Given the description of an element on the screen output the (x, y) to click on. 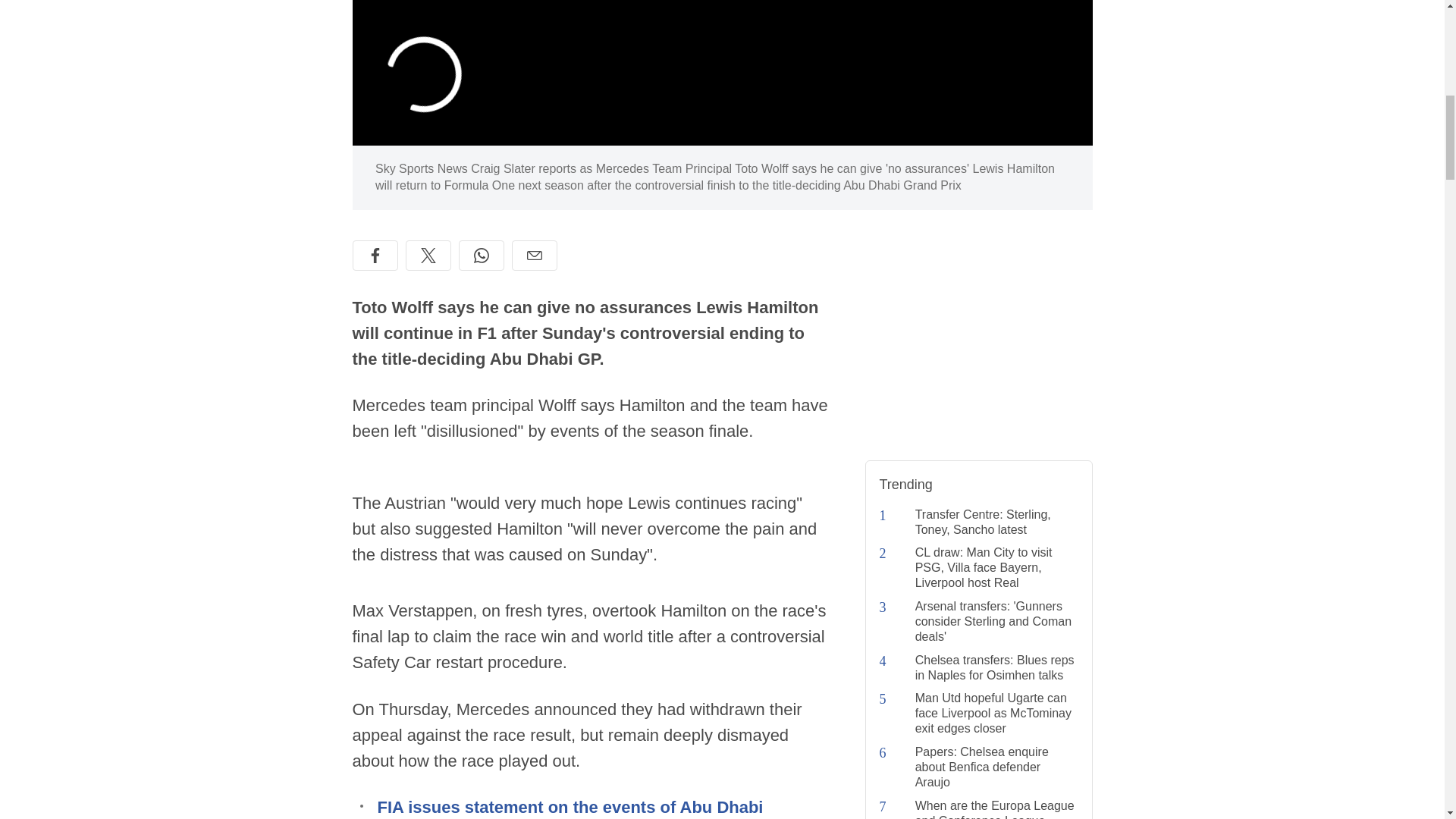
Share on Facebook (374, 255)
Share on WhatsApp (480, 255)
Share on X (426, 255)
Share by email (533, 255)
